Given the description of an element on the screen output the (x, y) to click on. 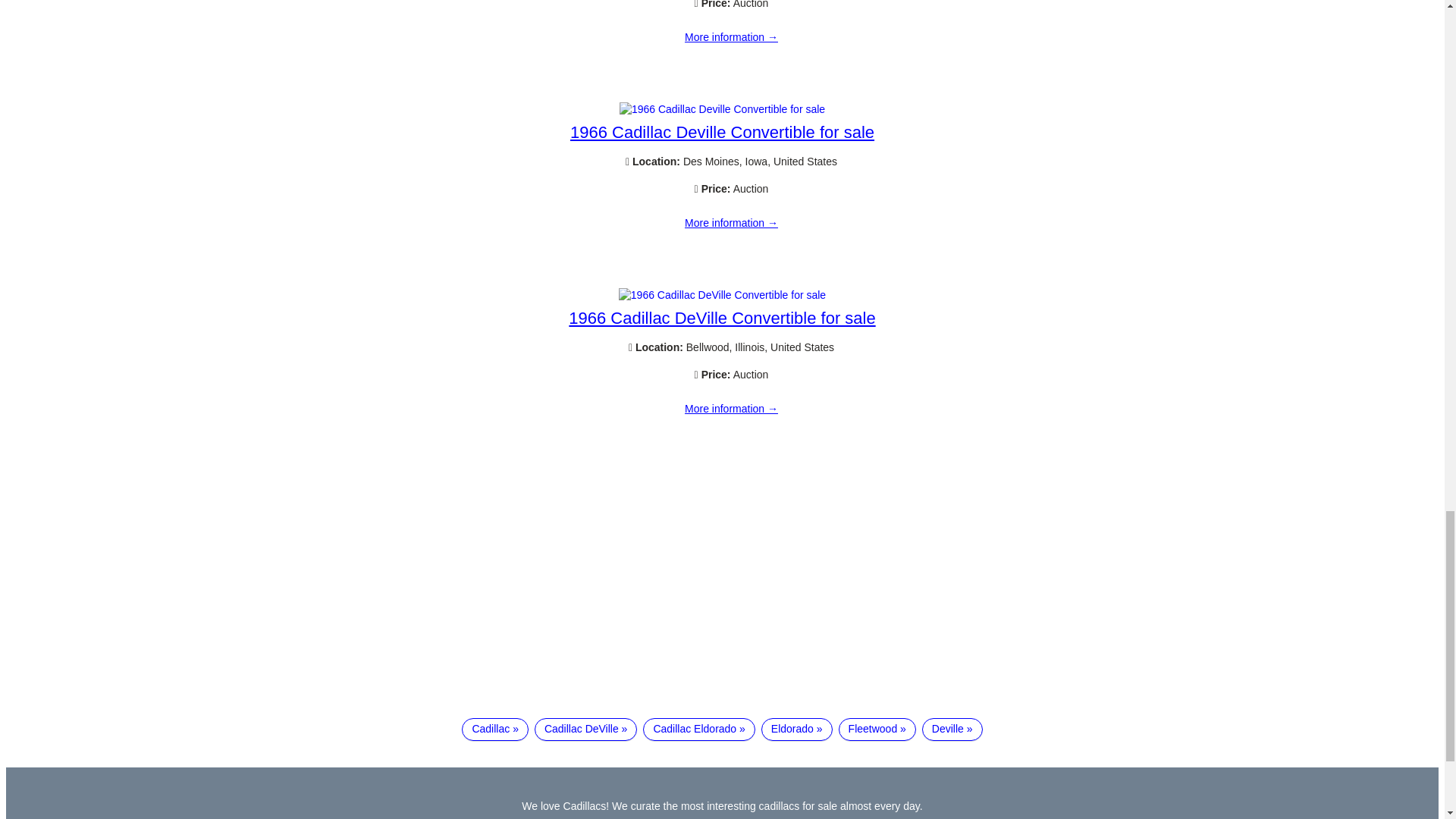
Fleetwood (876, 729)
1966 Cadillac DeVille Convertible for sale (721, 295)
1966 Cadillac Deville Convertible for sale (722, 131)
1966 Cadillac Deville Convertible for sale (731, 223)
Cadillac (494, 729)
1966 Cadillac DeVille Convertible for sale (731, 409)
Eldorado (796, 729)
Deville (951, 729)
1966 Cadillac DeVille Convertible for sale (722, 317)
Cadillac Eldorado (698, 729)
1966 Cadillac Deville Convertible for sale (731, 37)
Cadillac DeVille (585, 729)
1966 Cadillac Deville Convertible for sale (722, 109)
